Given the description of an element on the screen output the (x, y) to click on. 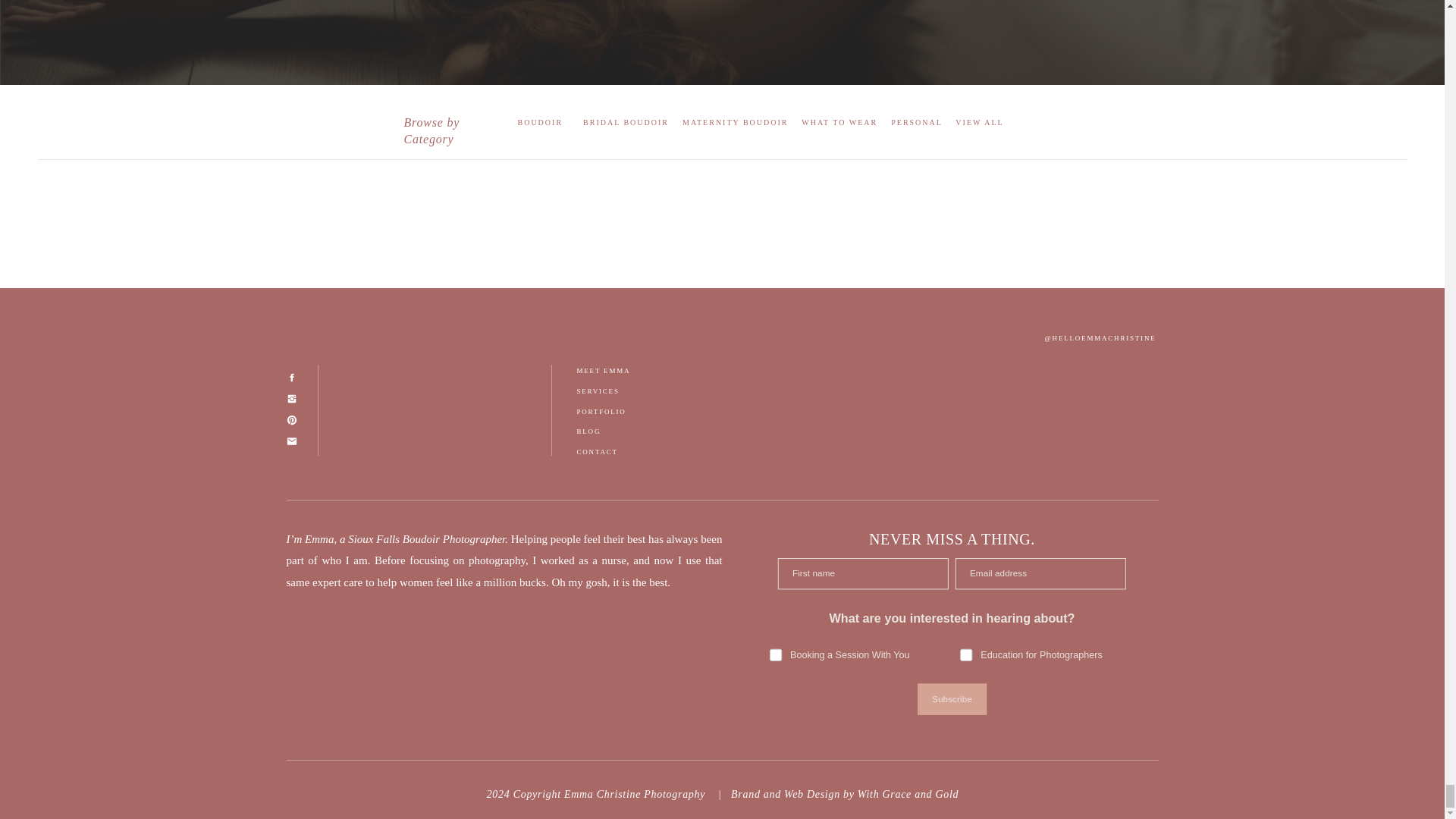
WHAT TO WEAR (839, 121)
BRIDAL BOUDOIR (625, 121)
MEET EMMA (619, 371)
PERSONAL (916, 121)
VIEW ALL (979, 121)
MATERNITY BOUDOIR (734, 121)
BOUDOIR (539, 121)
